Given the description of an element on the screen output the (x, y) to click on. 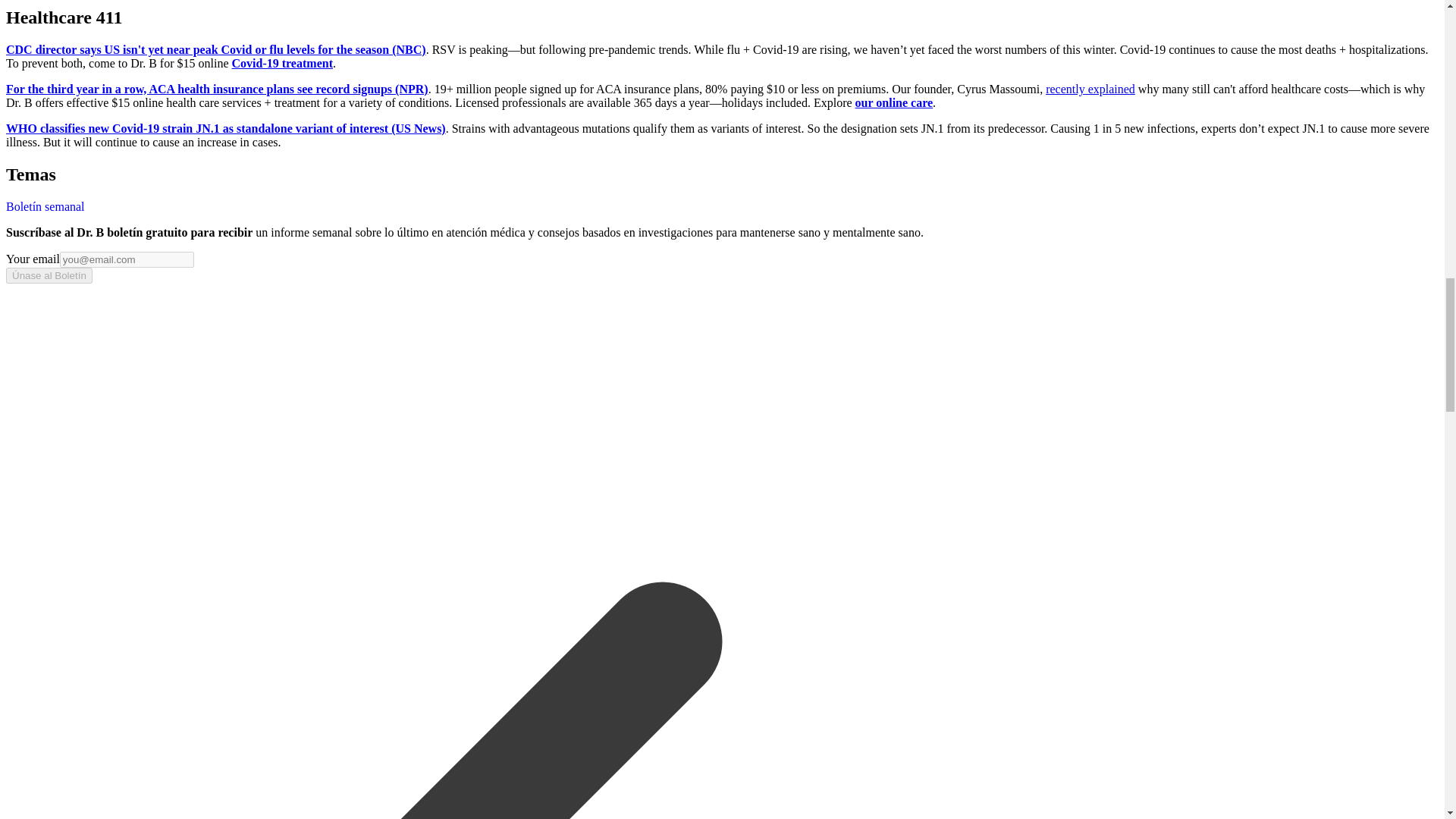
recently explained (1090, 88)
Covid-19 treatment (282, 62)
our online care (894, 102)
